Given the description of an element on the screen output the (x, y) to click on. 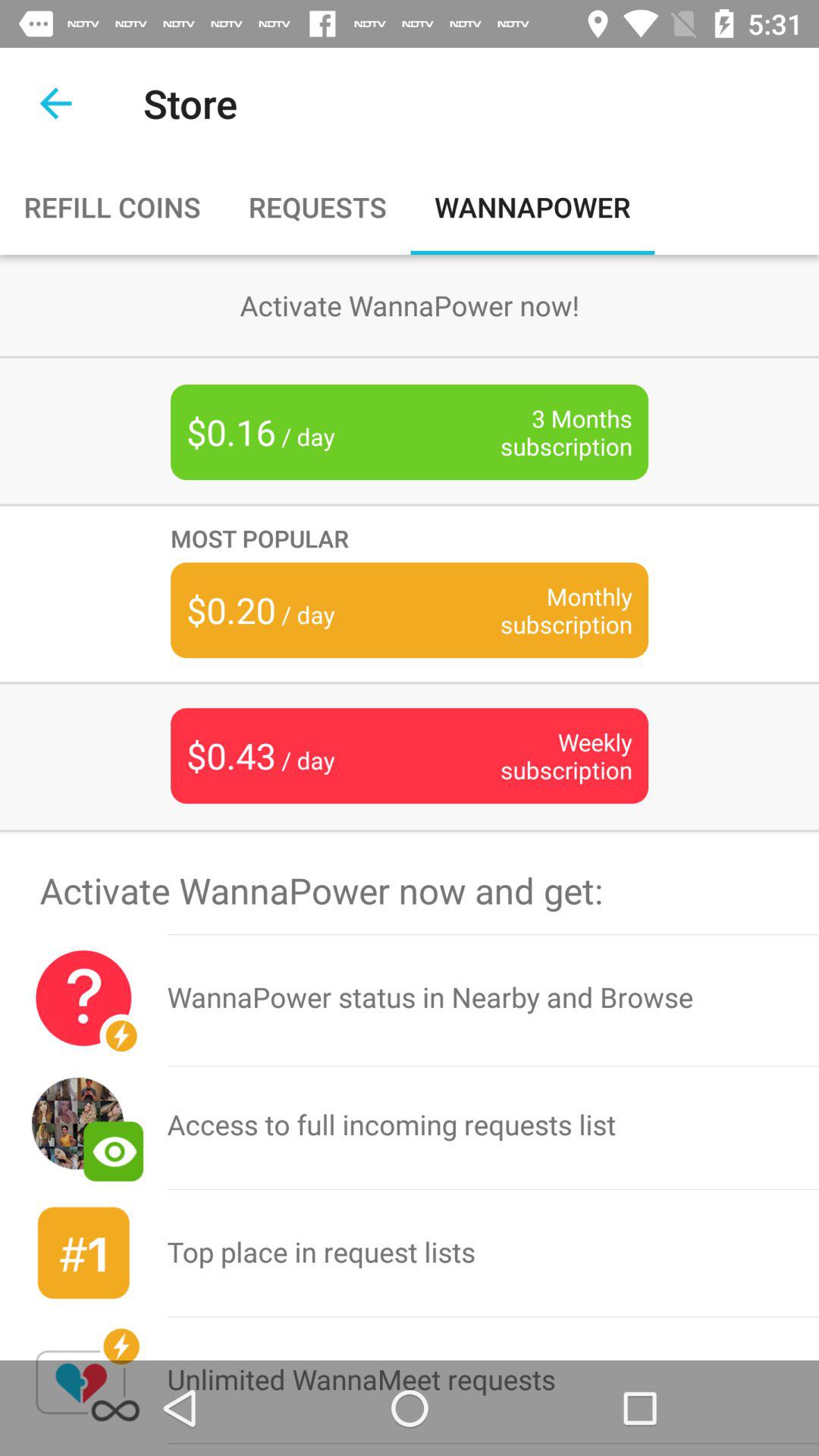
tap item above the activate wannapower now item (409, 830)
